Given the description of an element on the screen output the (x, y) to click on. 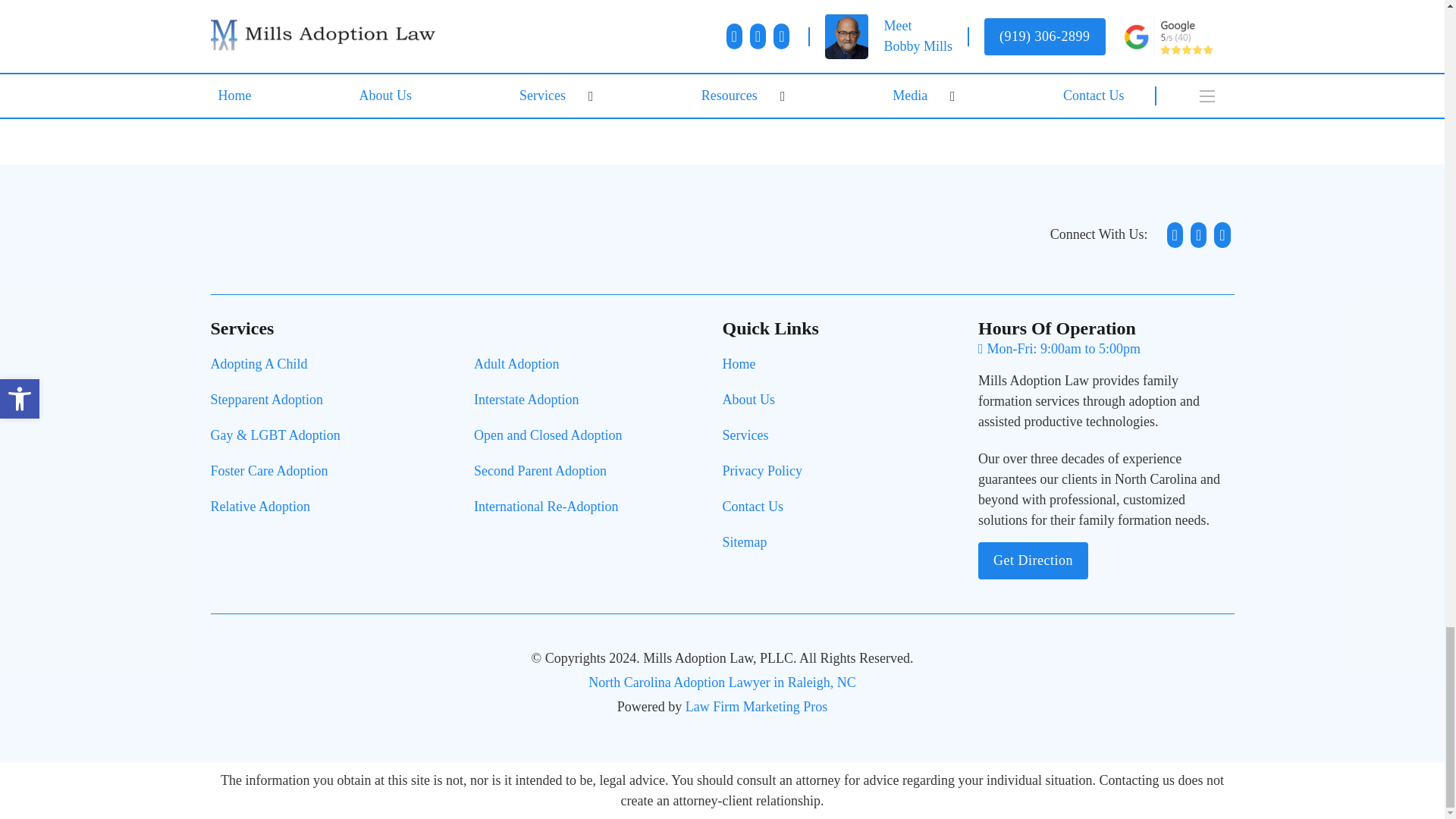
FaceBook (1174, 234)
GMB  (1221, 234)
Get Direction (1032, 560)
Linkedin (1197, 234)
